Given the description of an element on the screen output the (x, y) to click on. 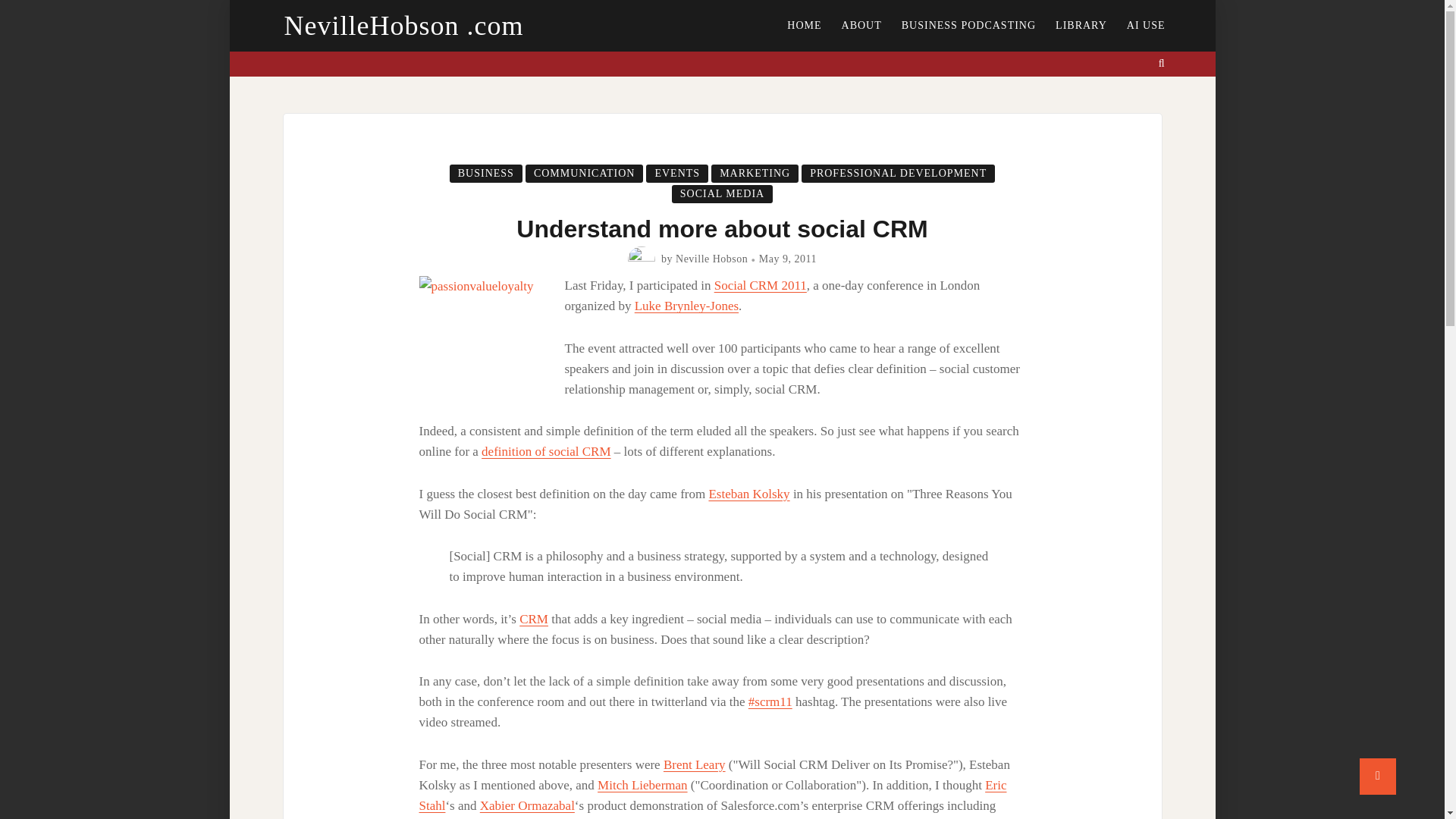
ABOUT (861, 25)
passionvalueloyalty (491, 339)
definition of social CRM (545, 451)
Social CRM 2011 (760, 285)
Eric Stahl (712, 795)
NevilleHobson .com (402, 25)
CRM (533, 618)
Scroll to top (1377, 776)
AI USE (1145, 25)
Esteban Kolsky (748, 493)
Xabier Ormazabal (527, 805)
BUSINESS (485, 173)
Luke Brynley-Jones (686, 305)
search (1161, 63)
MARKETING (754, 173)
